Given the description of an element on the screen output the (x, y) to click on. 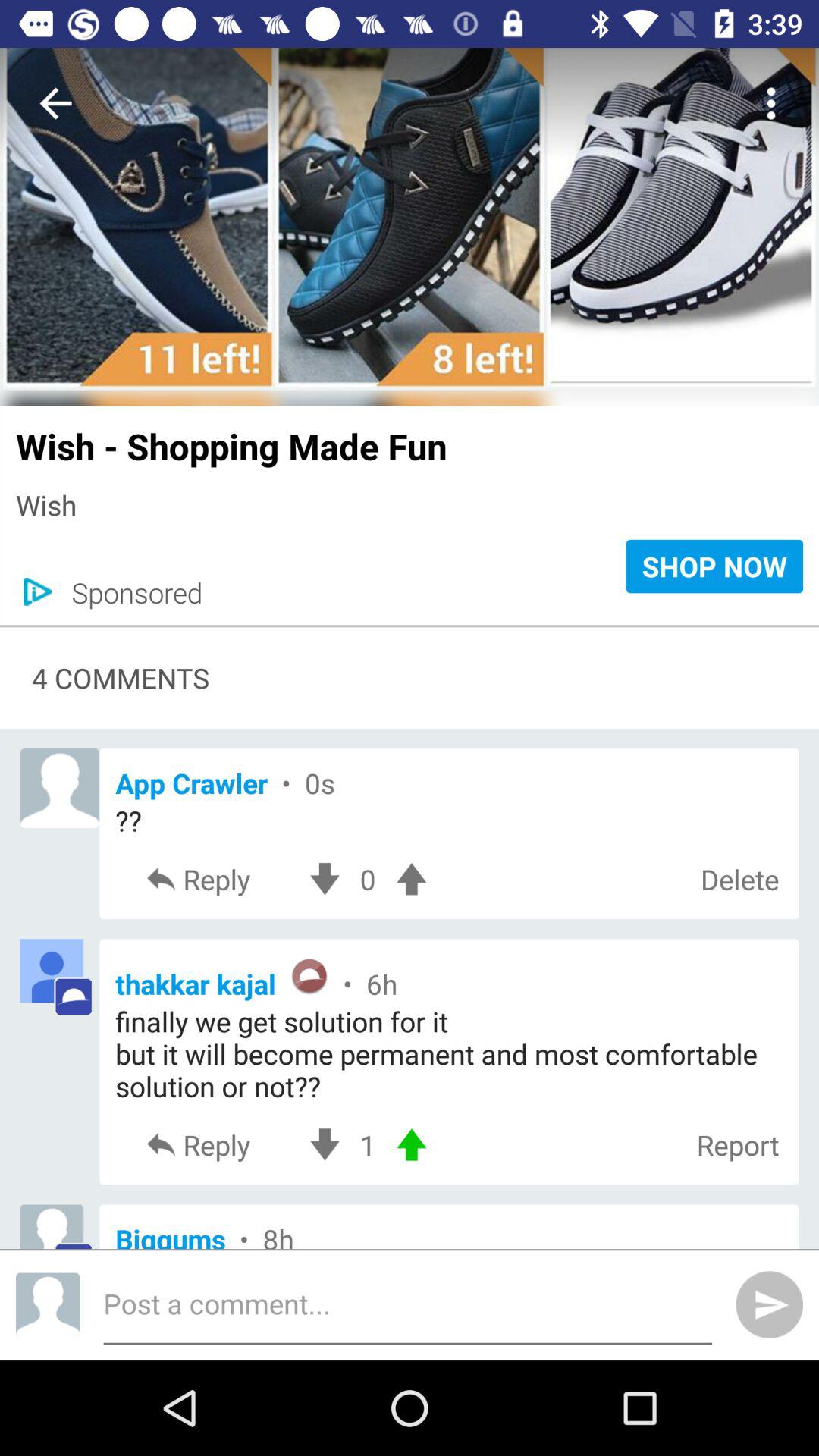
launch the wish shopping made item (409, 438)
